Given the description of an element on the screen output the (x, y) to click on. 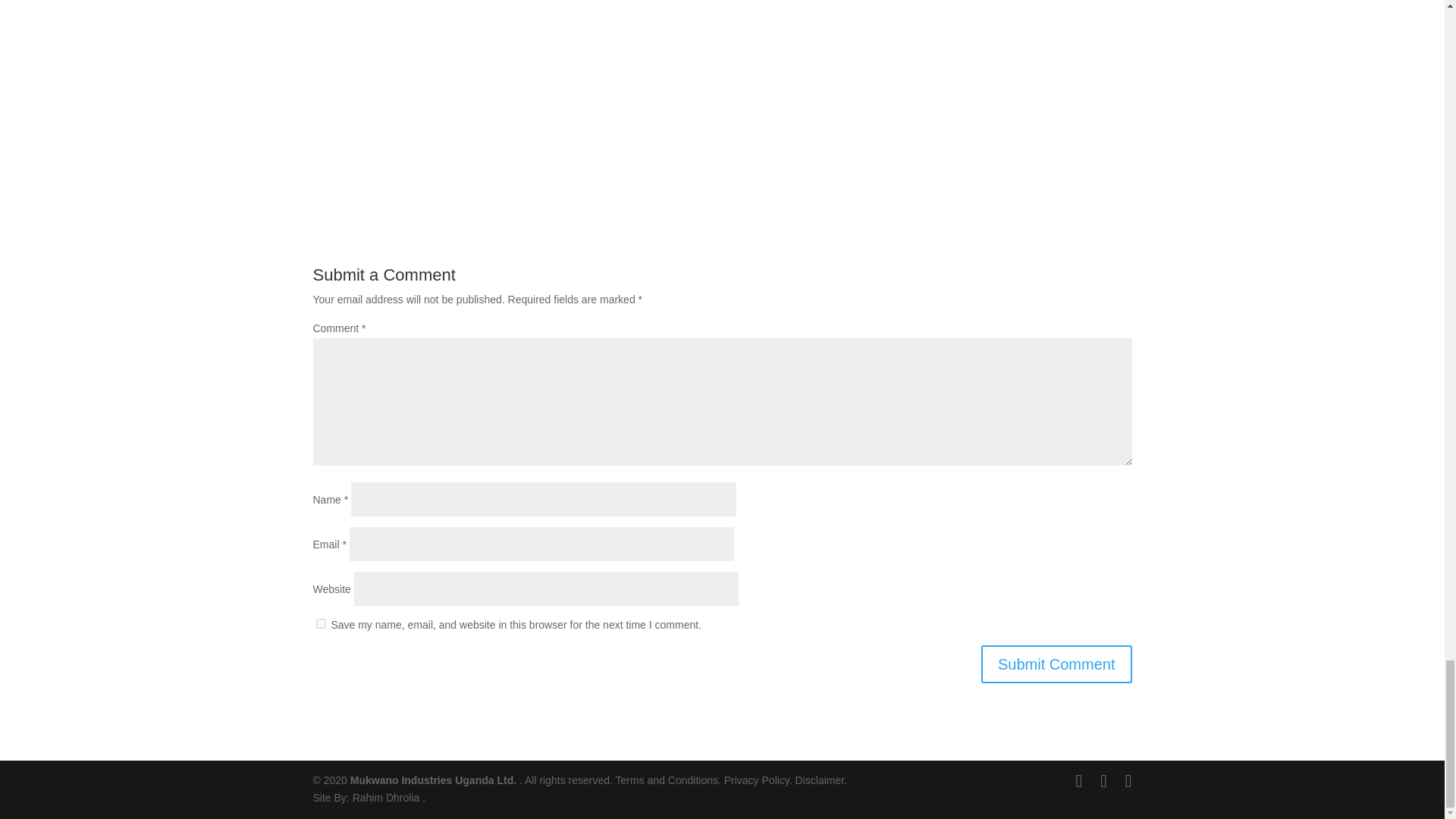
yes (319, 623)
Submit Comment (1056, 664)
